Given the description of an element on the screen output the (x, y) to click on. 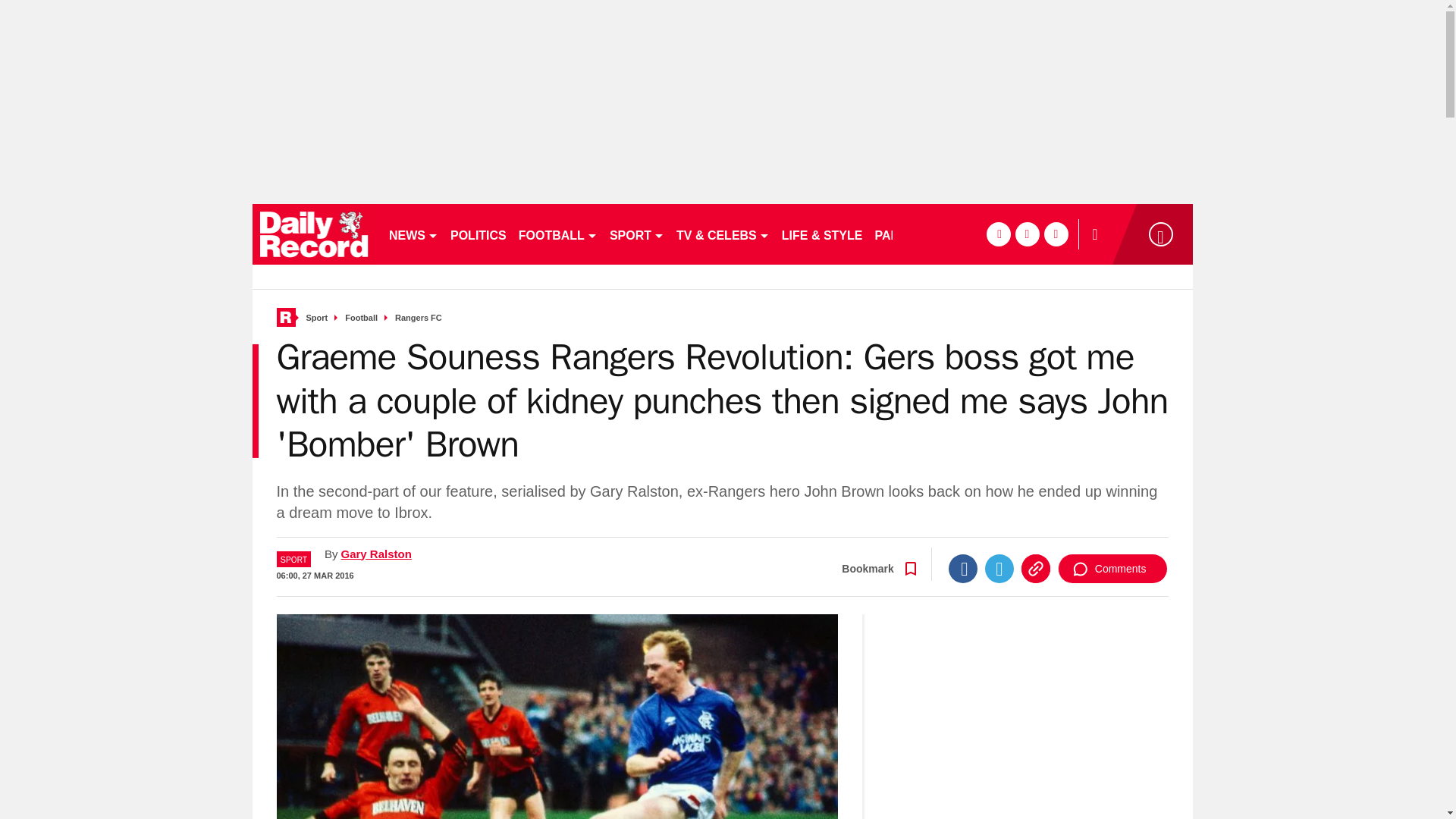
dailyrecord (313, 233)
Comments (1112, 593)
instagram (1055, 233)
facebook (997, 233)
Twitter (999, 593)
NEWS (413, 233)
POLITICS (478, 233)
SPORT (636, 233)
FOOTBALL (558, 233)
Facebook (962, 593)
